Given the description of an element on the screen output the (x, y) to click on. 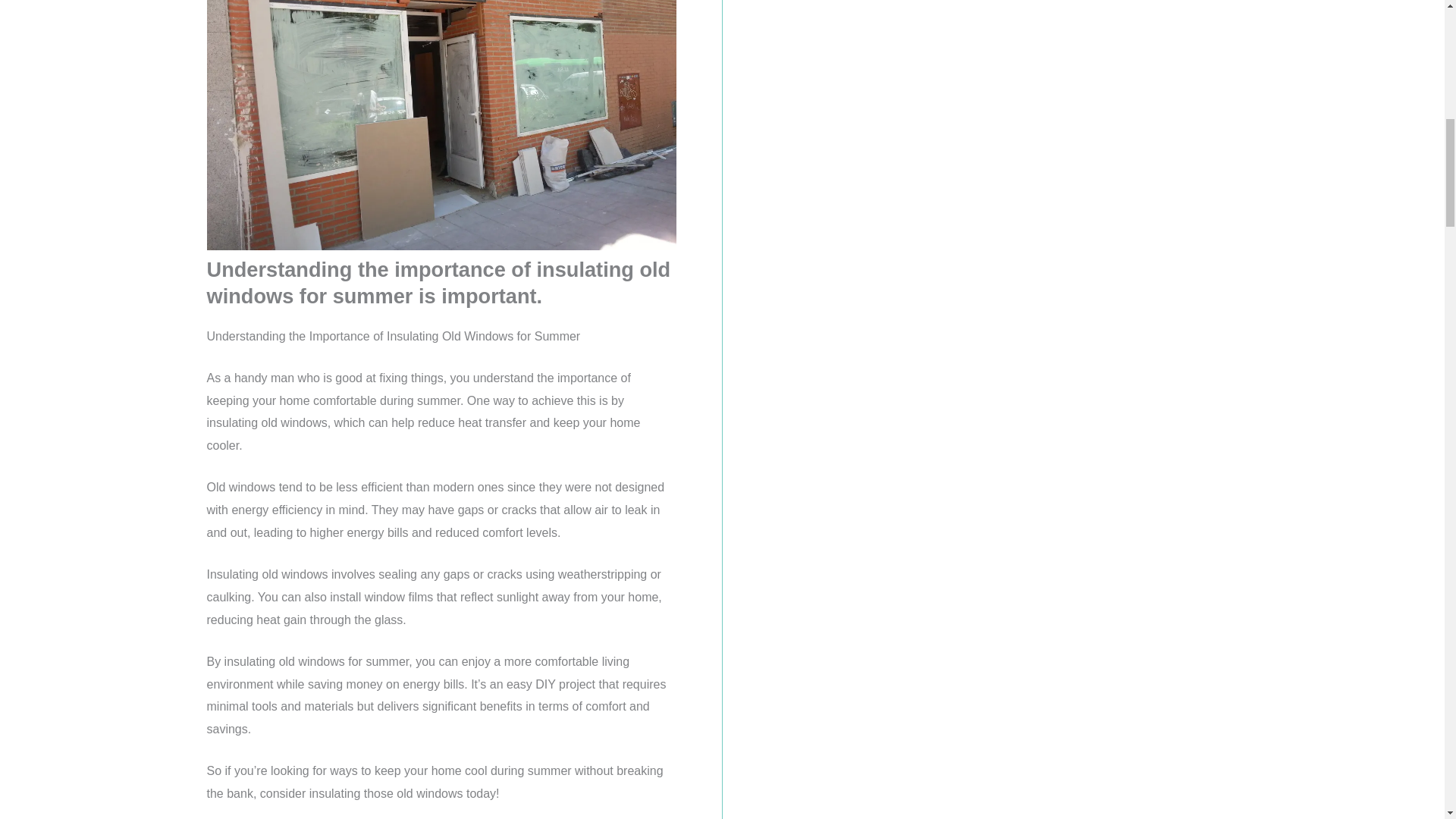
how to insulate old windows for summer (441, 125)
